Given the description of an element on the screen output the (x, y) to click on. 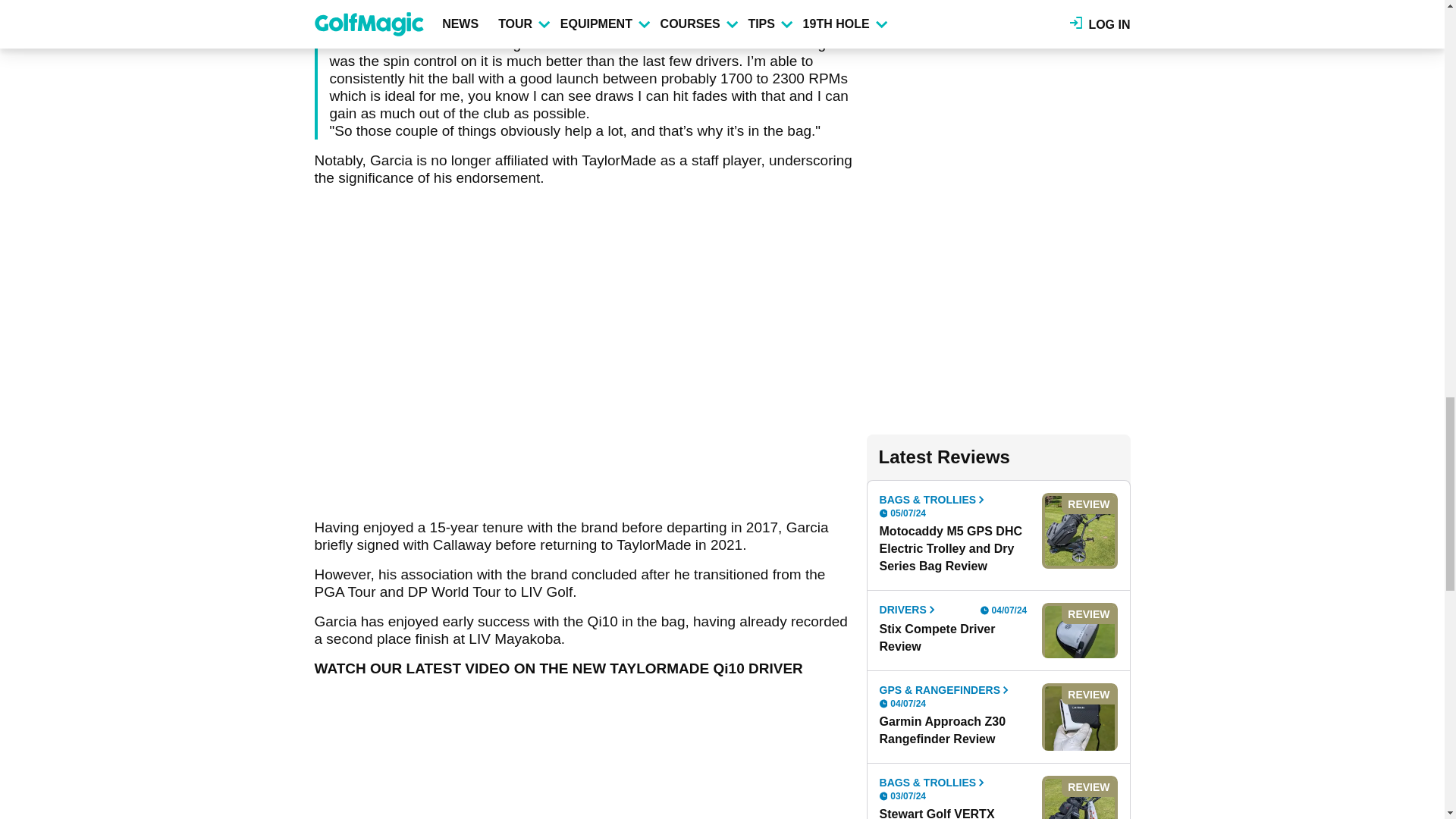
YouTube video player (526, 769)
